Given the description of an element on the screen output the (x, y) to click on. 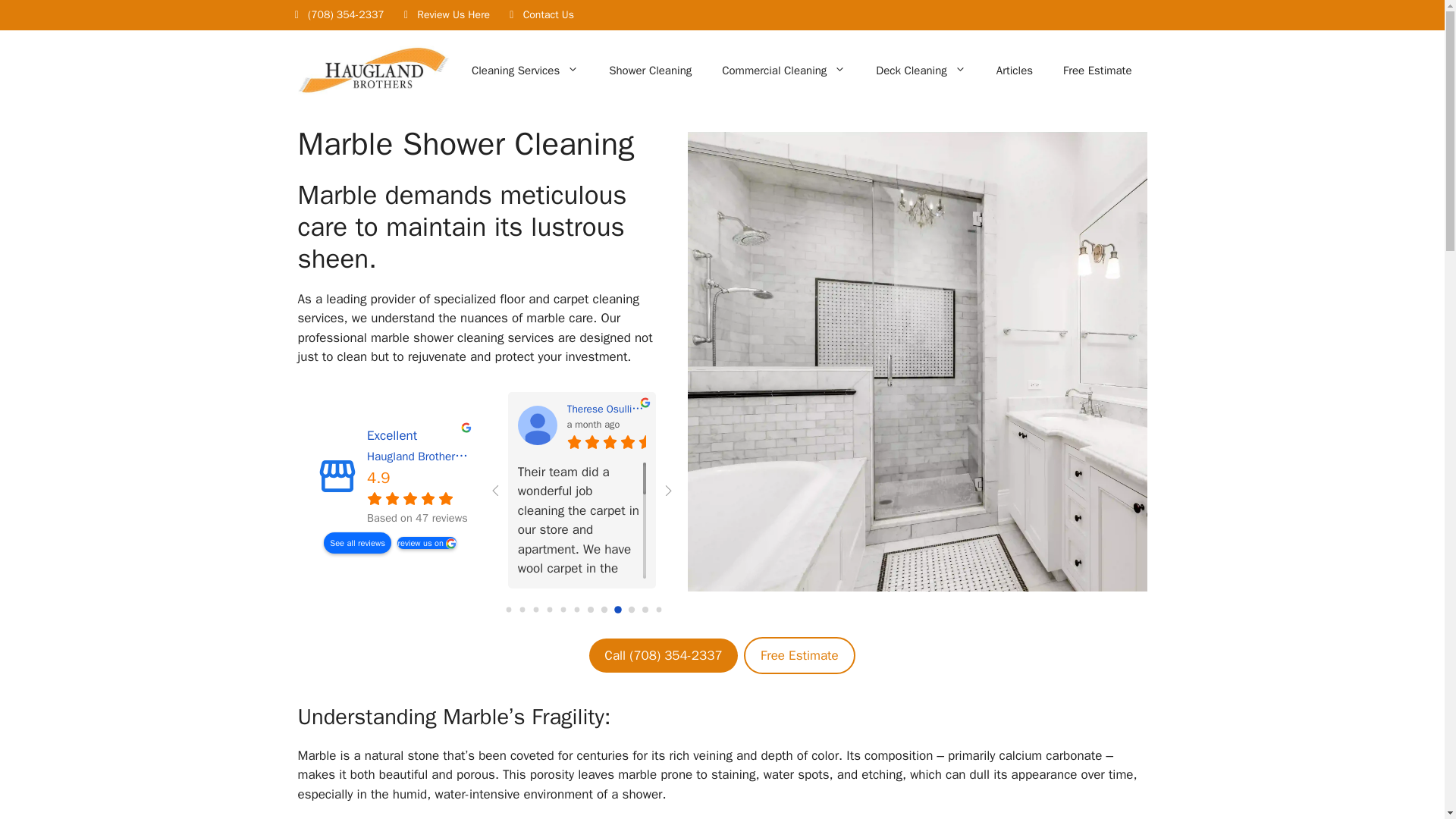
Review Us Here (444, 15)
Contact Us (538, 15)
Patrick McCarthy (1200, 425)
John Linden (1091, 408)
Gloria J Yorke (928, 408)
Shower Cleaning (650, 70)
Patrick McCarthy (1269, 409)
Nick Bob (771, 409)
Deck Cleaning (919, 70)
Cleaning Services (525, 70)
Bill Jurkowski (1365, 425)
Gloria J Yorke (868, 425)
Articles (1014, 70)
Free Estimate (1097, 70)
